Given the description of an element on the screen output the (x, y) to click on. 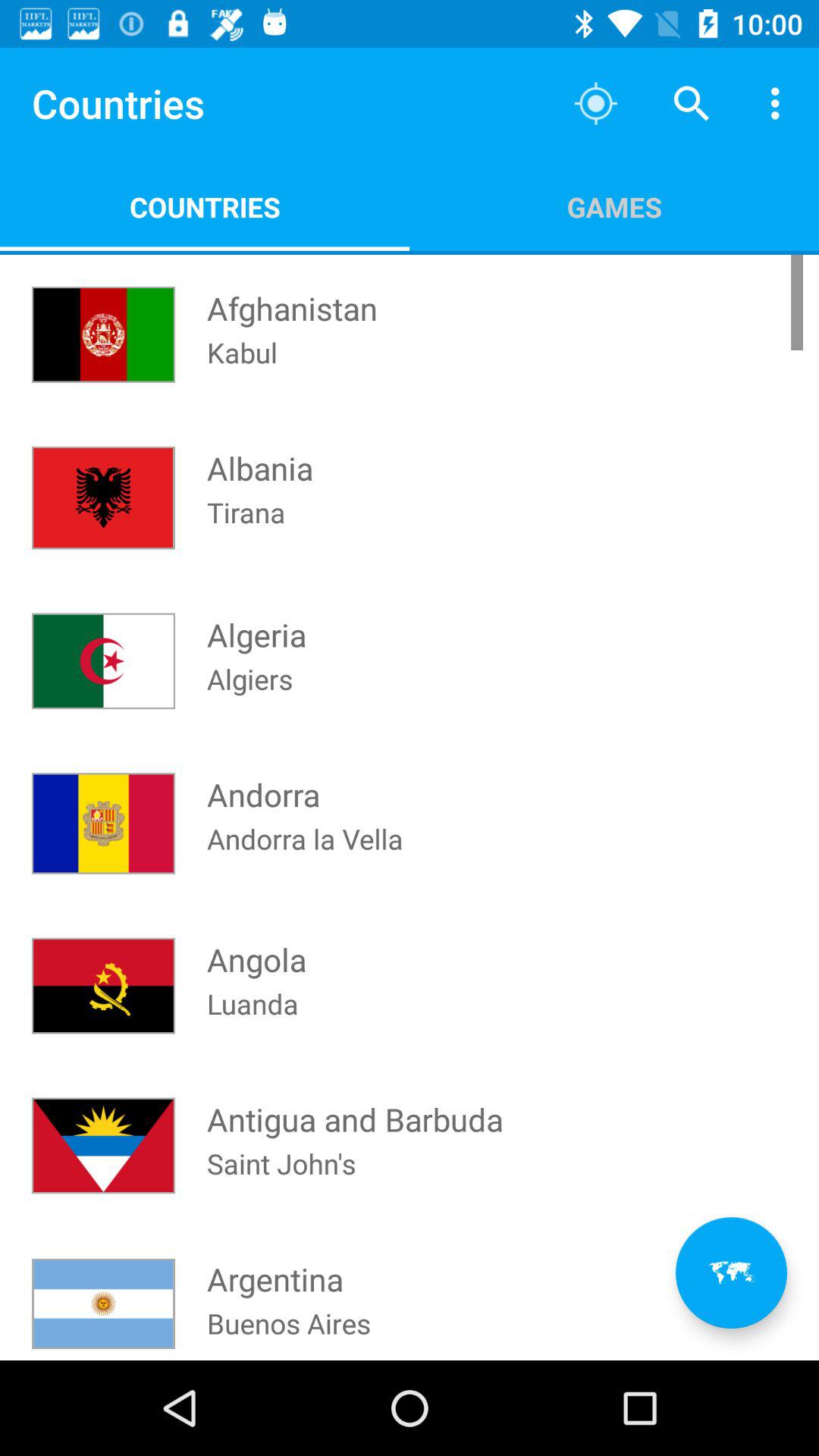
turn on antigua and barbuda item (355, 1104)
